Given the description of an element on the screen output the (x, y) to click on. 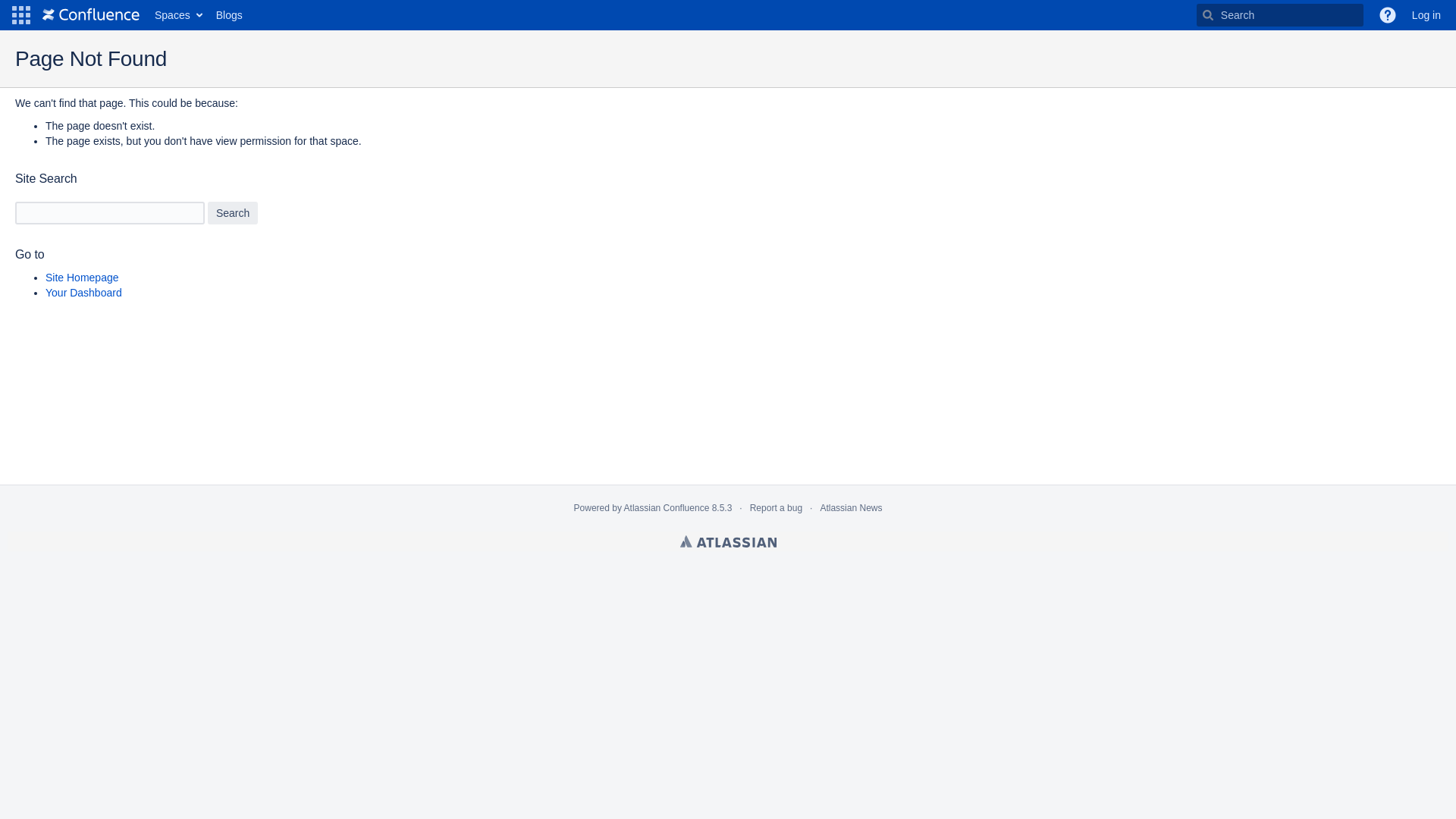
Totalcare Knowledge Base Element type: text (90, 15)
Site Homepage Element type: text (82, 277)
Atlassian News Element type: text (850, 507)
Spaces Element type: text (177, 15)
Blogs Element type: text (229, 15)
Your Dashboard Element type: text (83, 292)
Report a bug Element type: text (775, 507)
Log in Element type: text (1426, 15)
Search Element type: text (232, 212)
Atlassian Confluence Element type: text (666, 507)
Help Element type: text (1387, 15)
Atlassian Element type: text (727, 541)
Linked Applications Element type: text (20, 15)
 (Type 'g' then 'g'OR '/') Element type: hover (1279, 14)
